Given the description of an element on the screen output the (x, y) to click on. 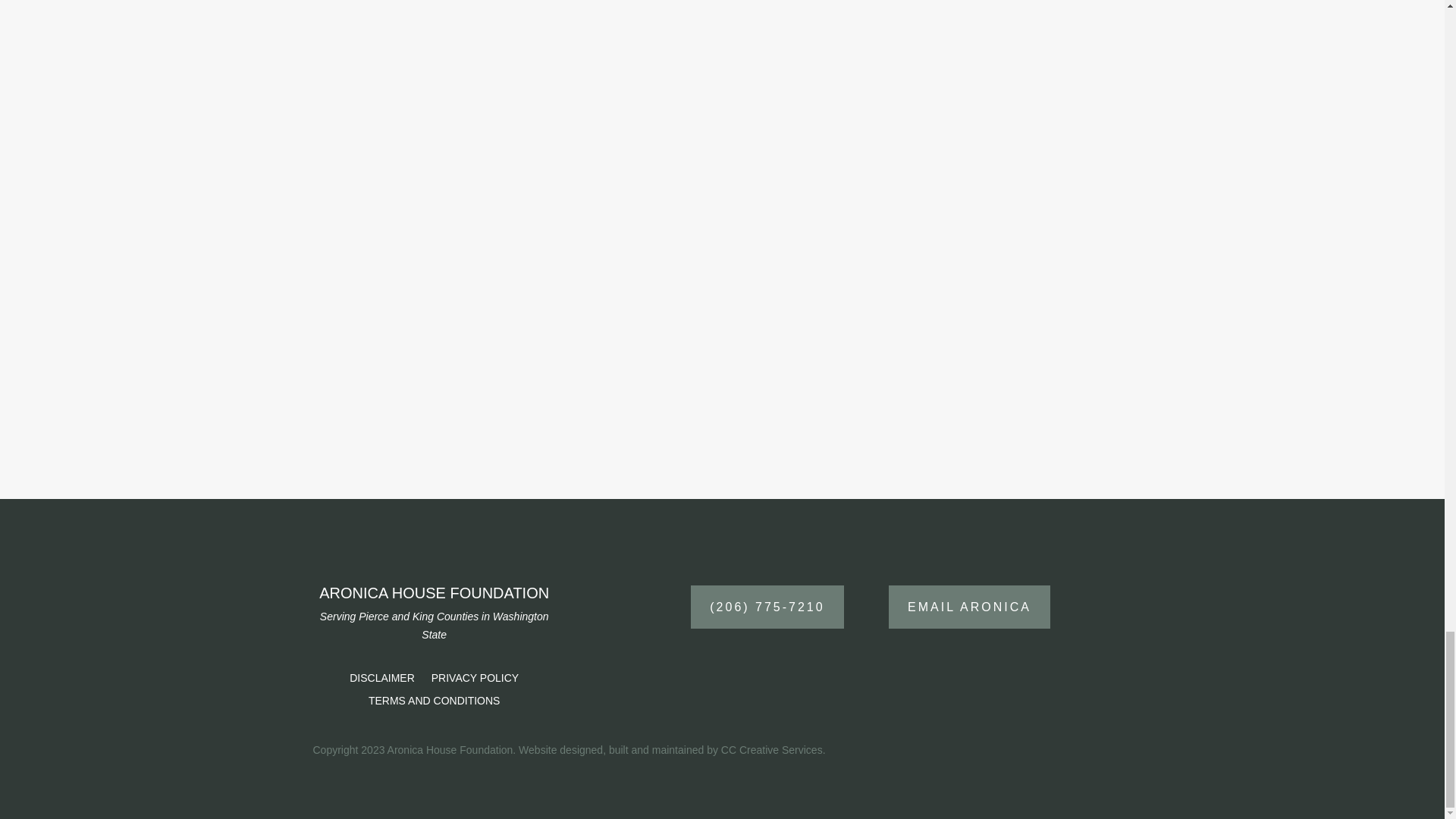
DISCLAIMER (381, 680)
TERMS AND CONDITIONS (433, 703)
CC Creative Services. (772, 749)
EMAIL ARONICA (968, 606)
PRIVACY POLICY (474, 680)
